Given the description of an element on the screen output the (x, y) to click on. 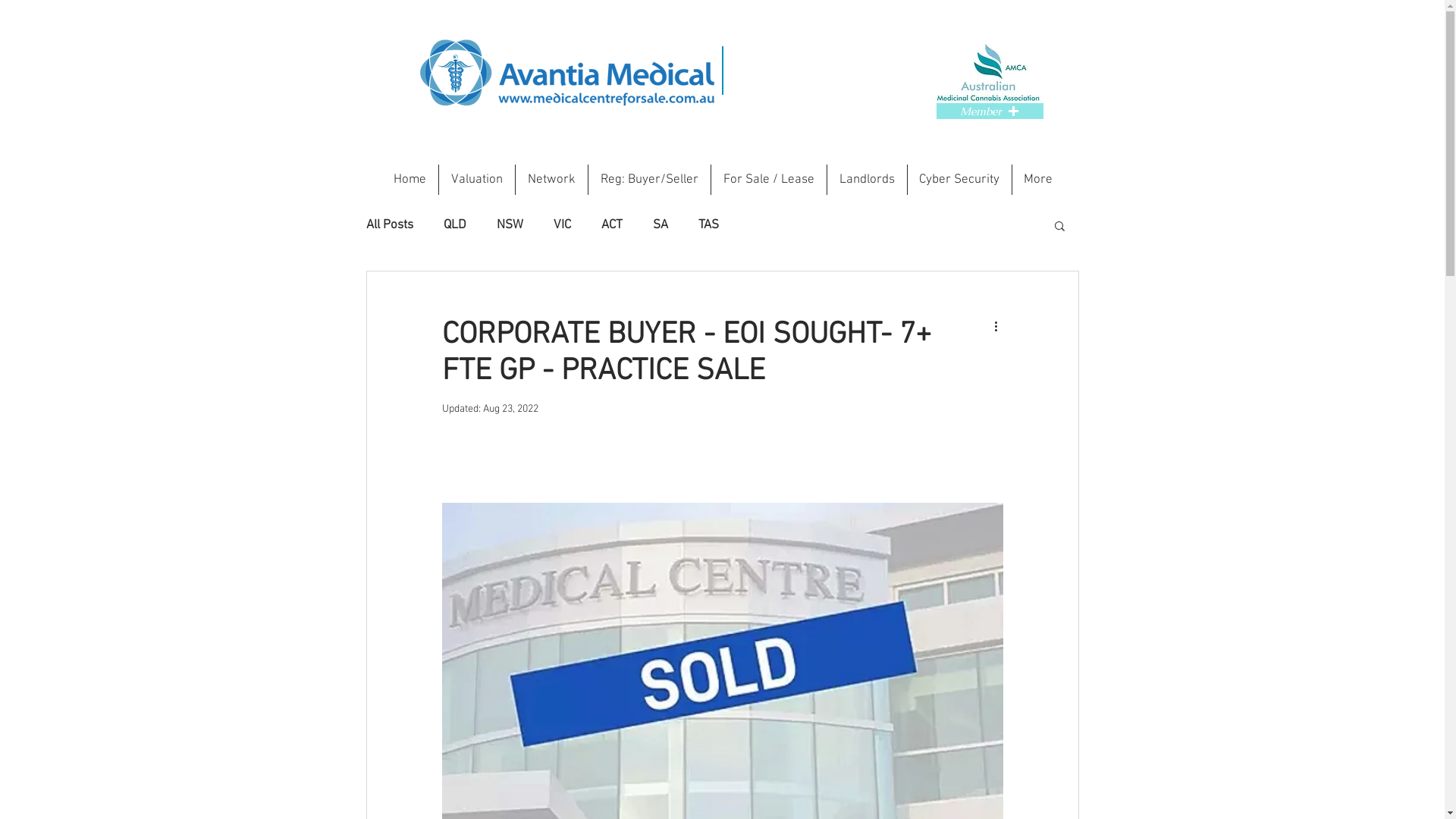
TAS Element type: text (707, 224)
Valuation Element type: text (476, 179)
VIC Element type: text (562, 224)
Landlords Element type: text (866, 179)
Cyber Security Element type: text (958, 179)
SA Element type: text (659, 224)
QLD Element type: text (453, 224)
Home Element type: text (408, 179)
Network Element type: text (551, 179)
ACT Element type: text (610, 224)
For Sale / Lease Element type: text (768, 179)
All Posts Element type: text (388, 224)
Reg: Buyer/Seller Element type: text (649, 179)
NSW Element type: text (508, 224)
